Given the description of an element on the screen output the (x, y) to click on. 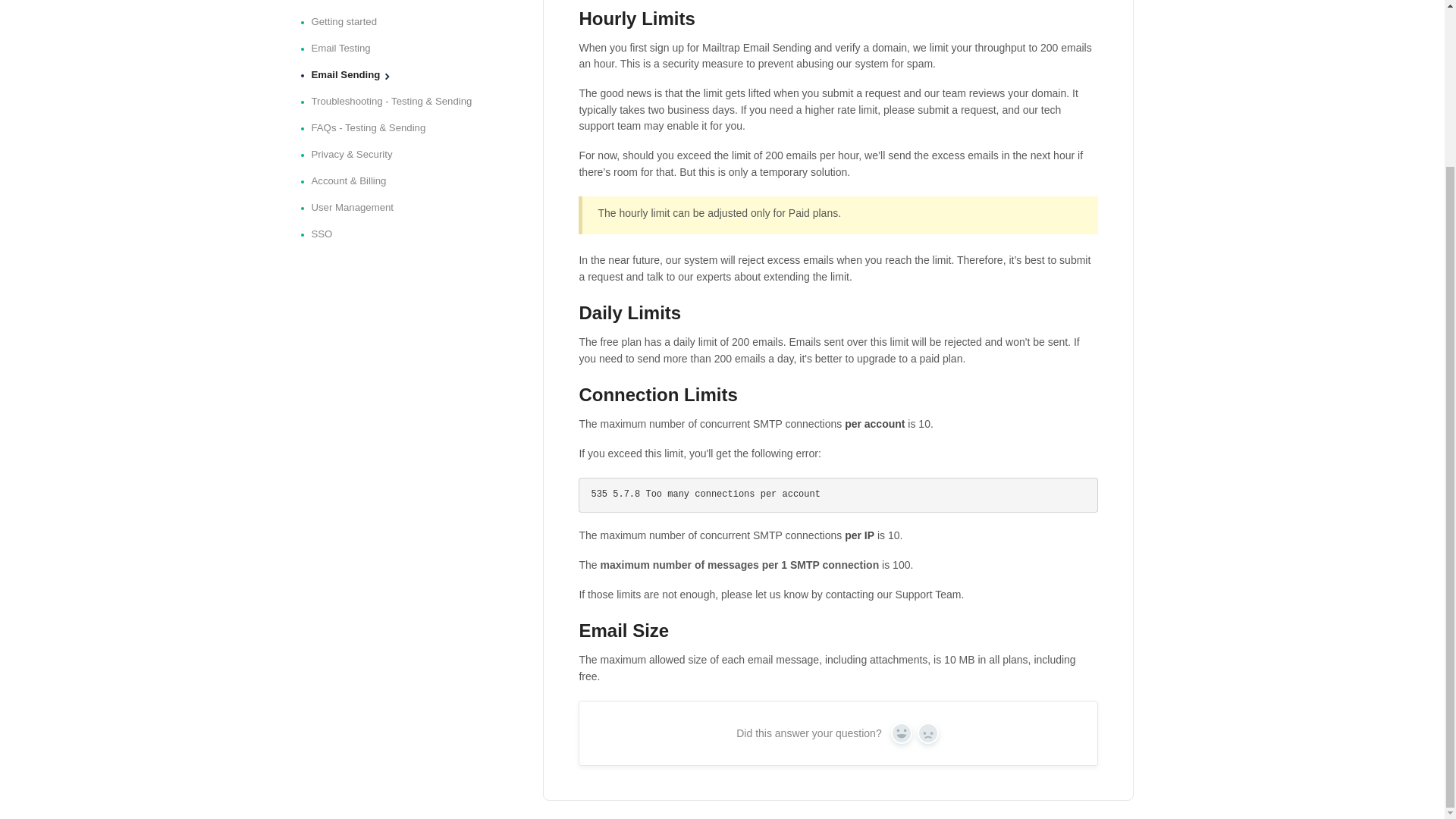
Email Sending (351, 74)
Yes (901, 732)
User Management (357, 207)
Email Testing (346, 48)
Getting started (349, 21)
No (928, 732)
SSO (327, 233)
